Given the description of an element on the screen output the (x, y) to click on. 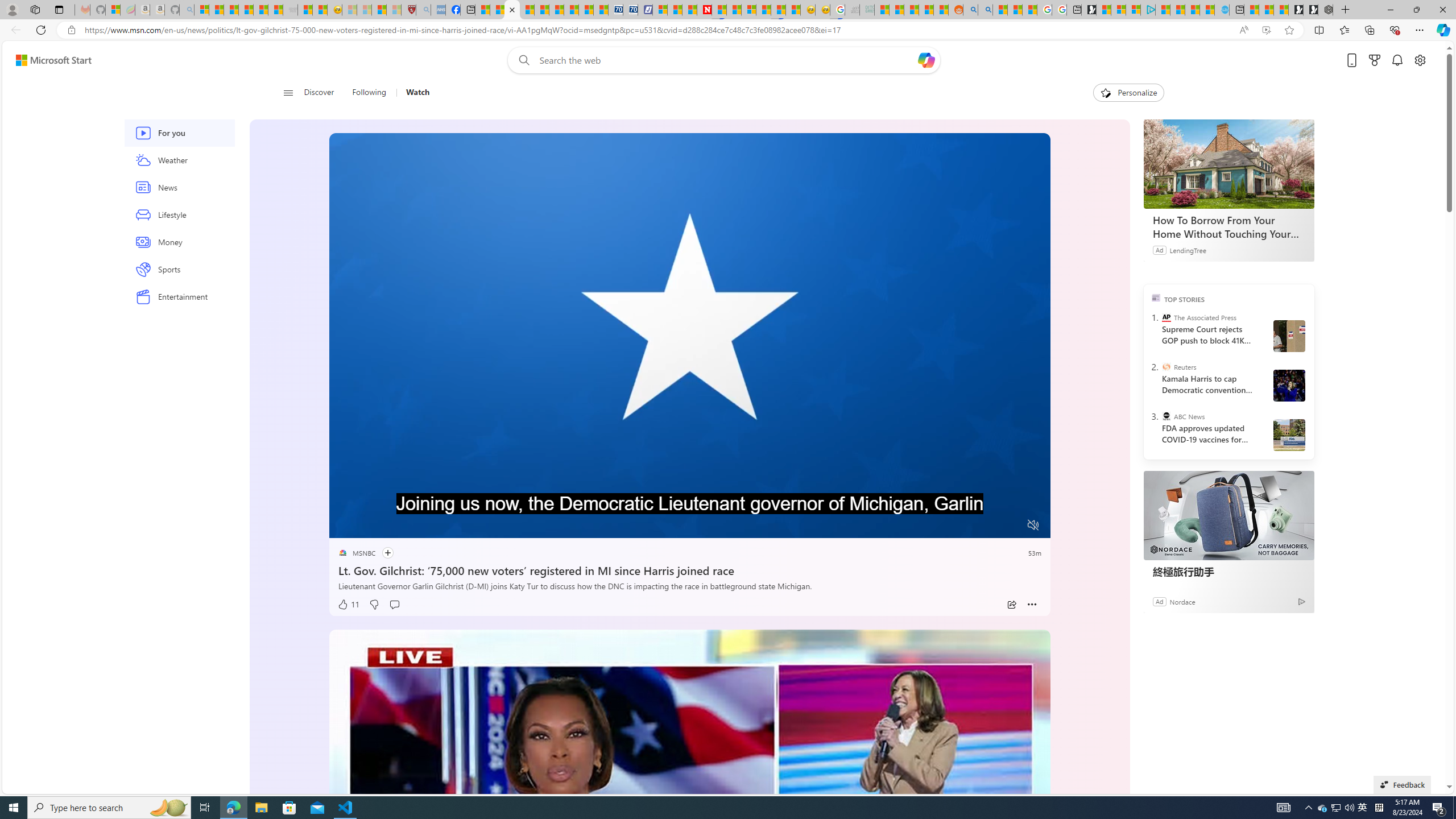
Captions (988, 525)
Progress Bar (689, 510)
